Given the description of an element on the screen output the (x, y) to click on. 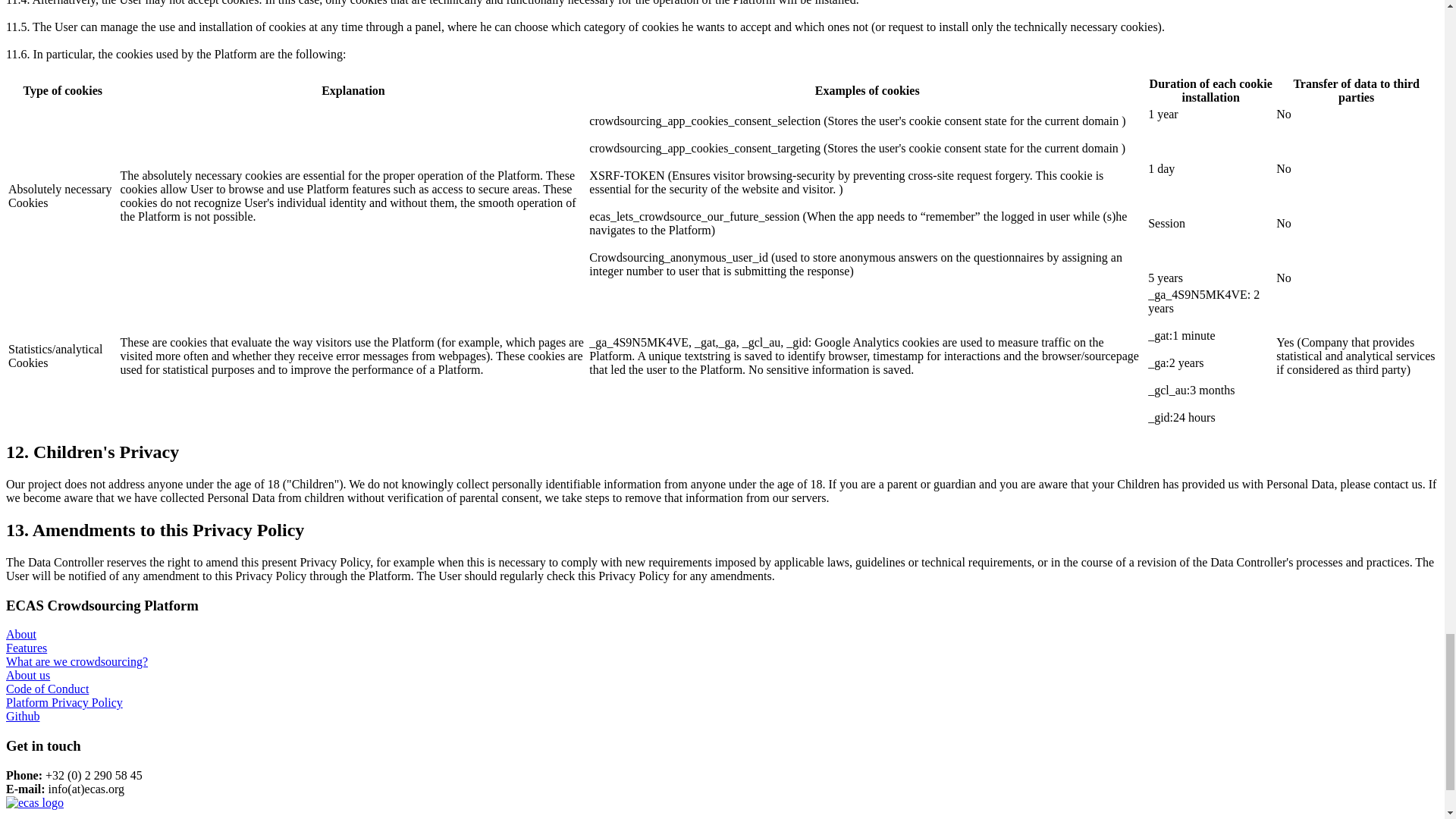
About us (27, 675)
What are we crowdsourcing? (76, 661)
Platform Privacy Policy (63, 702)
About (20, 634)
Github (22, 716)
Code of Conduct (46, 688)
Features (25, 647)
